Given the description of an element on the screen output the (x, y) to click on. 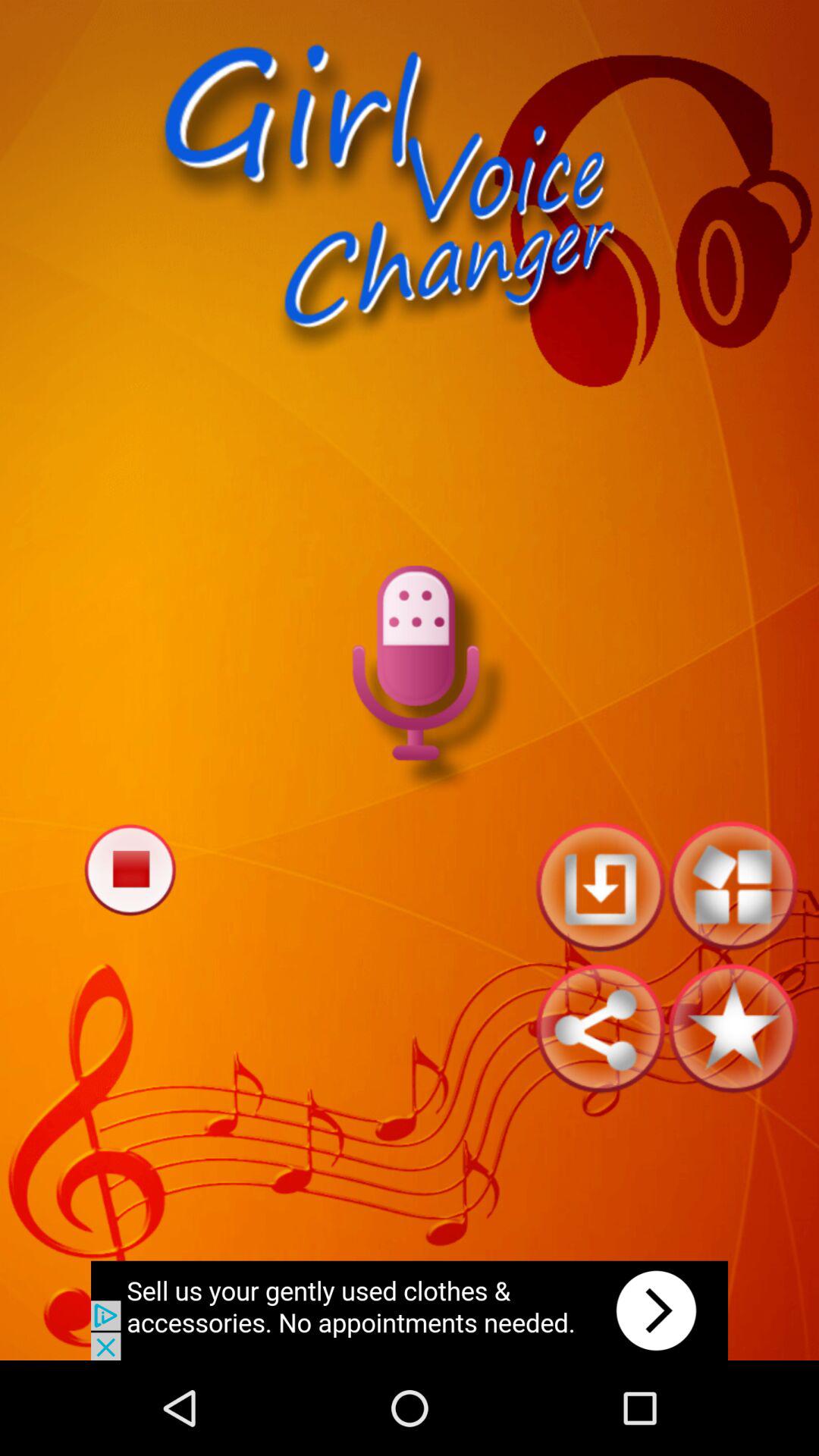
view advertisement (409, 1310)
